Given the description of an element on the screen output the (x, y) to click on. 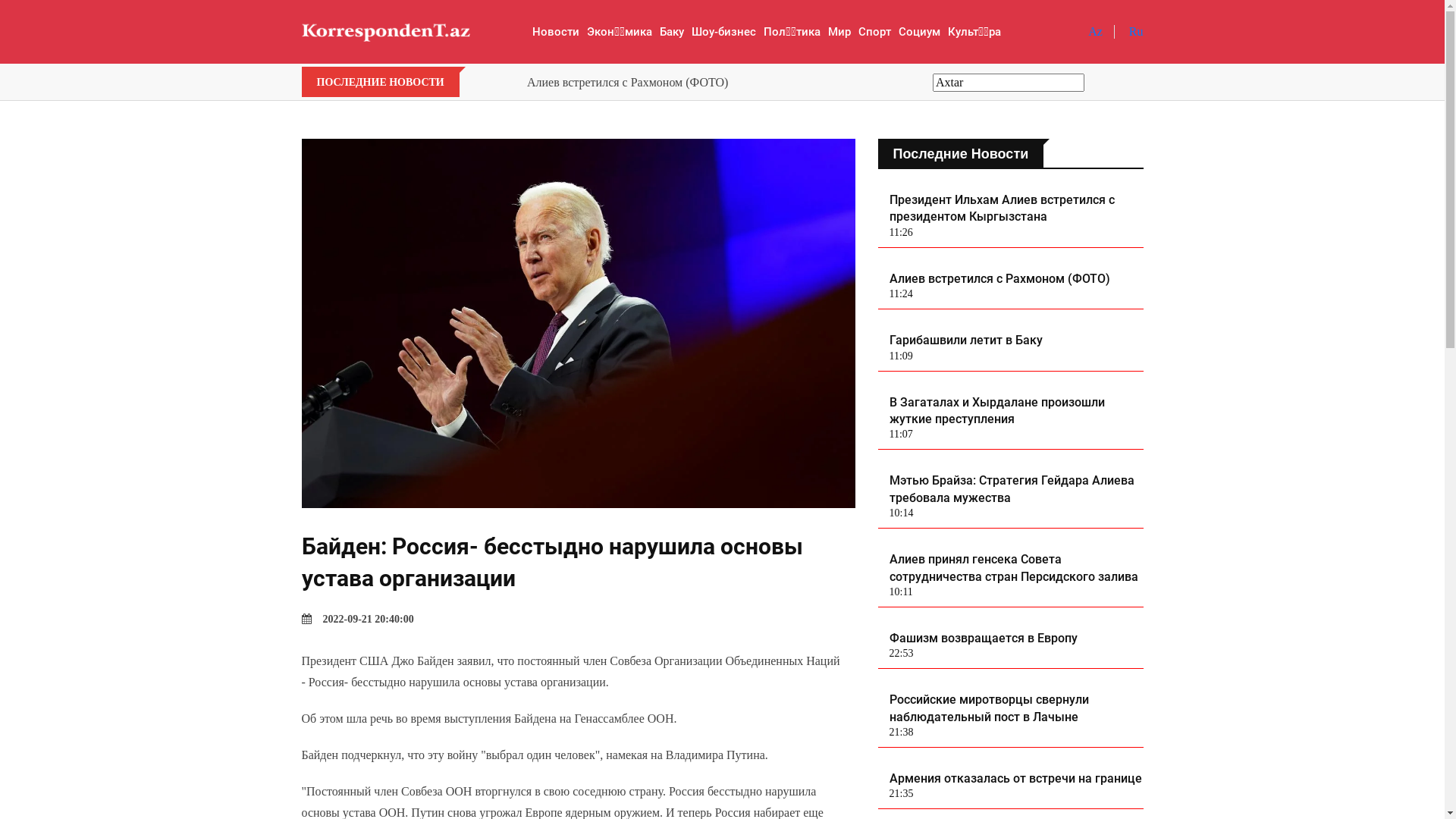
Az Element type: text (1095, 31)
2022-09-21 20:40:00 Element type: text (357, 618)
Ru Element type: text (1136, 31)
